Given the description of an element on the screen output the (x, y) to click on. 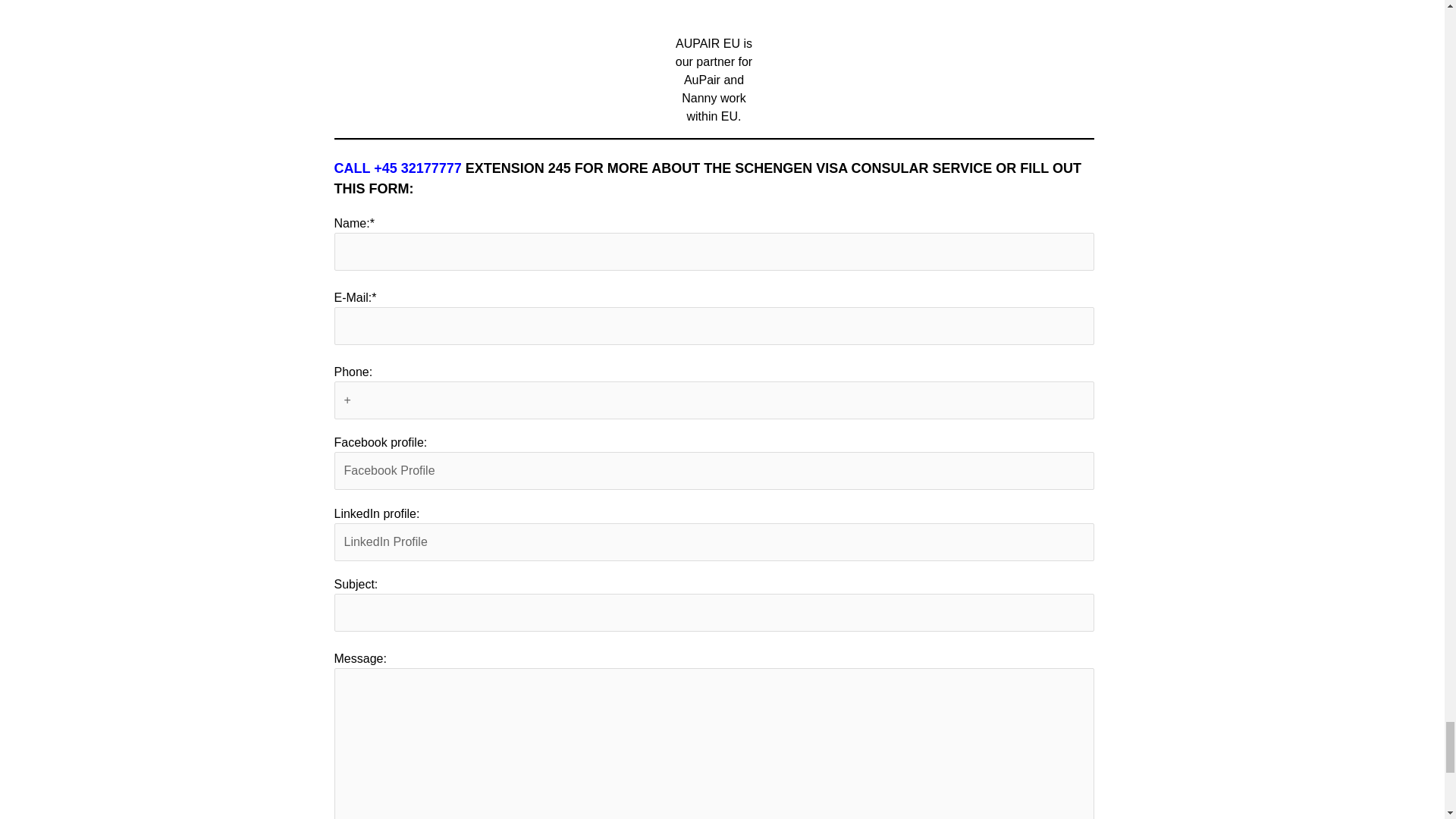
LinkedIn Profile (713, 542)
Facebook Profile (713, 470)
